Given the description of an element on the screen output the (x, y) to click on. 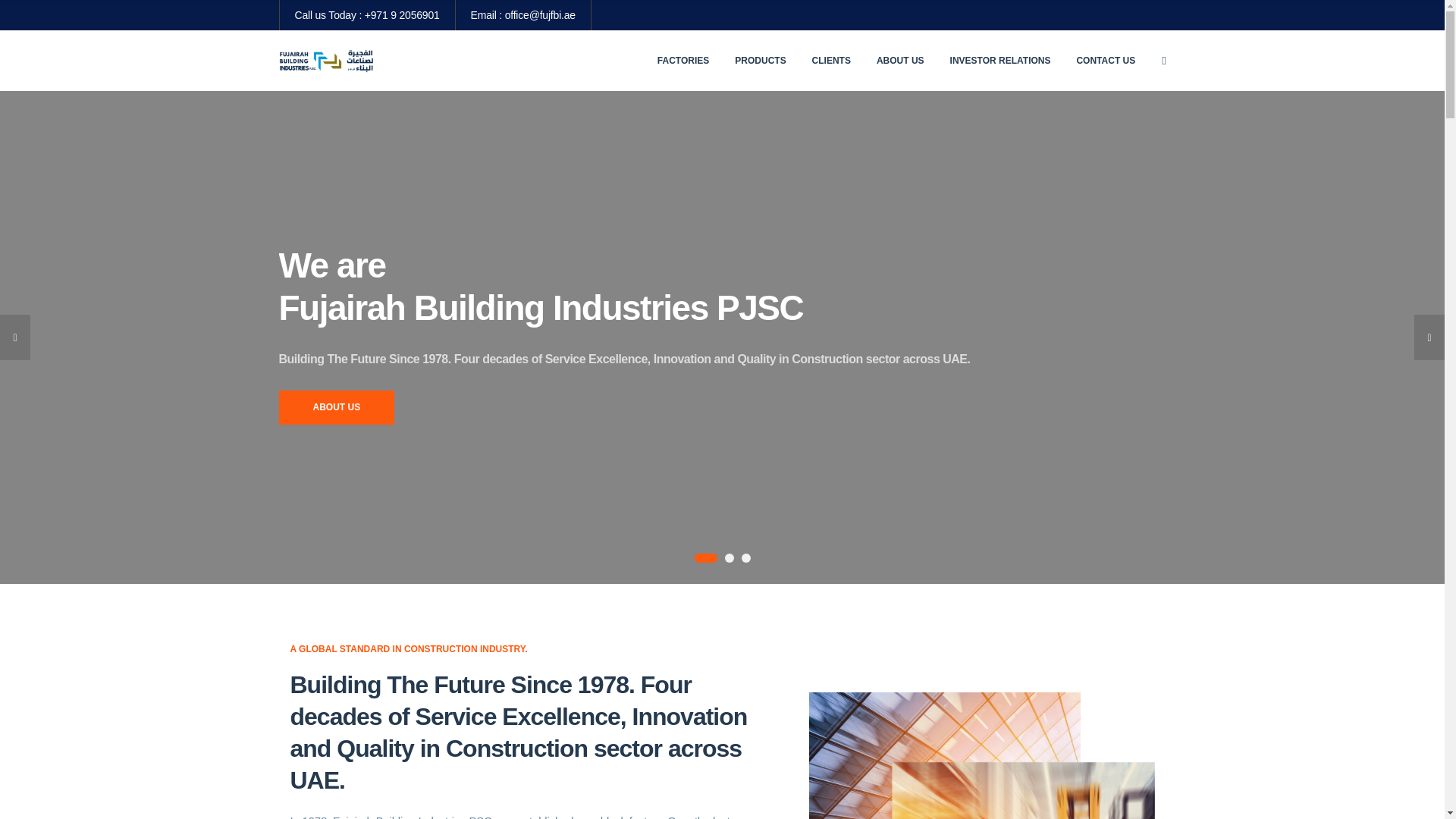
FACTORIES (683, 60)
CLIENTS (830, 60)
CONTACT US (1105, 60)
INVESTOR RELATIONS (1000, 60)
PRODUCTS (759, 60)
ABOUT US (900, 60)
